Given the description of an element on the screen output the (x, y) to click on. 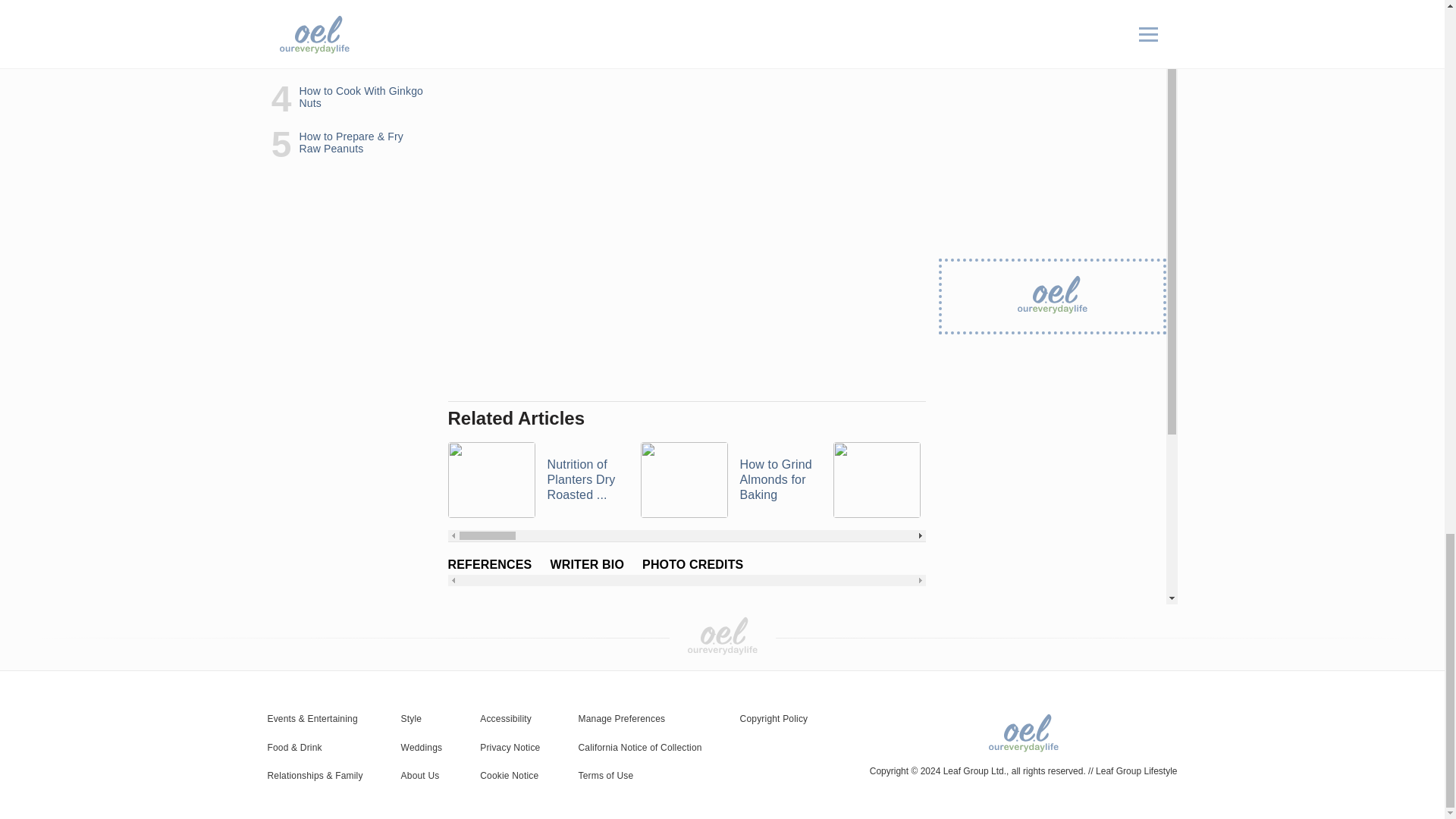
Type of Peanuts Used to Make Peanut ... (919, 479)
Nutrition of Planters Dry Roasted ... (533, 479)
How to Grind Almonds for Baking (726, 479)
How to Cook With Ginkgo Nuts (1112, 479)
